Given the description of an element on the screen output the (x, y) to click on. 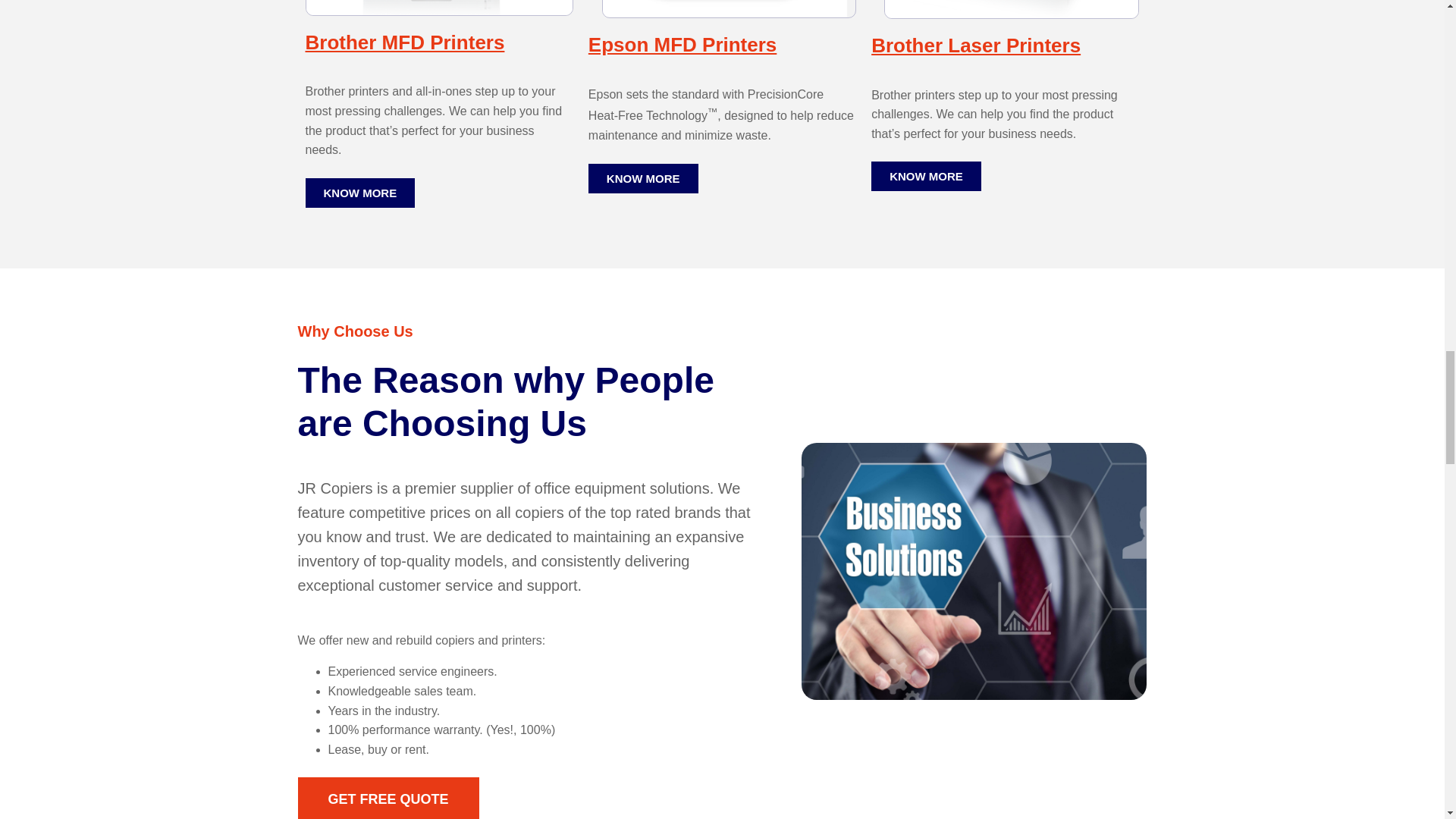
Epson MFD Printers (682, 44)
Epson MFD Printer USA (729, 9)
Brother MFD Printers (403, 42)
GET FREE QUOTE (388, 798)
KNOW MORE (643, 178)
Brother Printer (1010, 9)
KNOW MORE (925, 175)
Brother Laser Printers (975, 45)
KNOW MORE (359, 193)
